Given the description of an element on the screen output the (x, y) to click on. 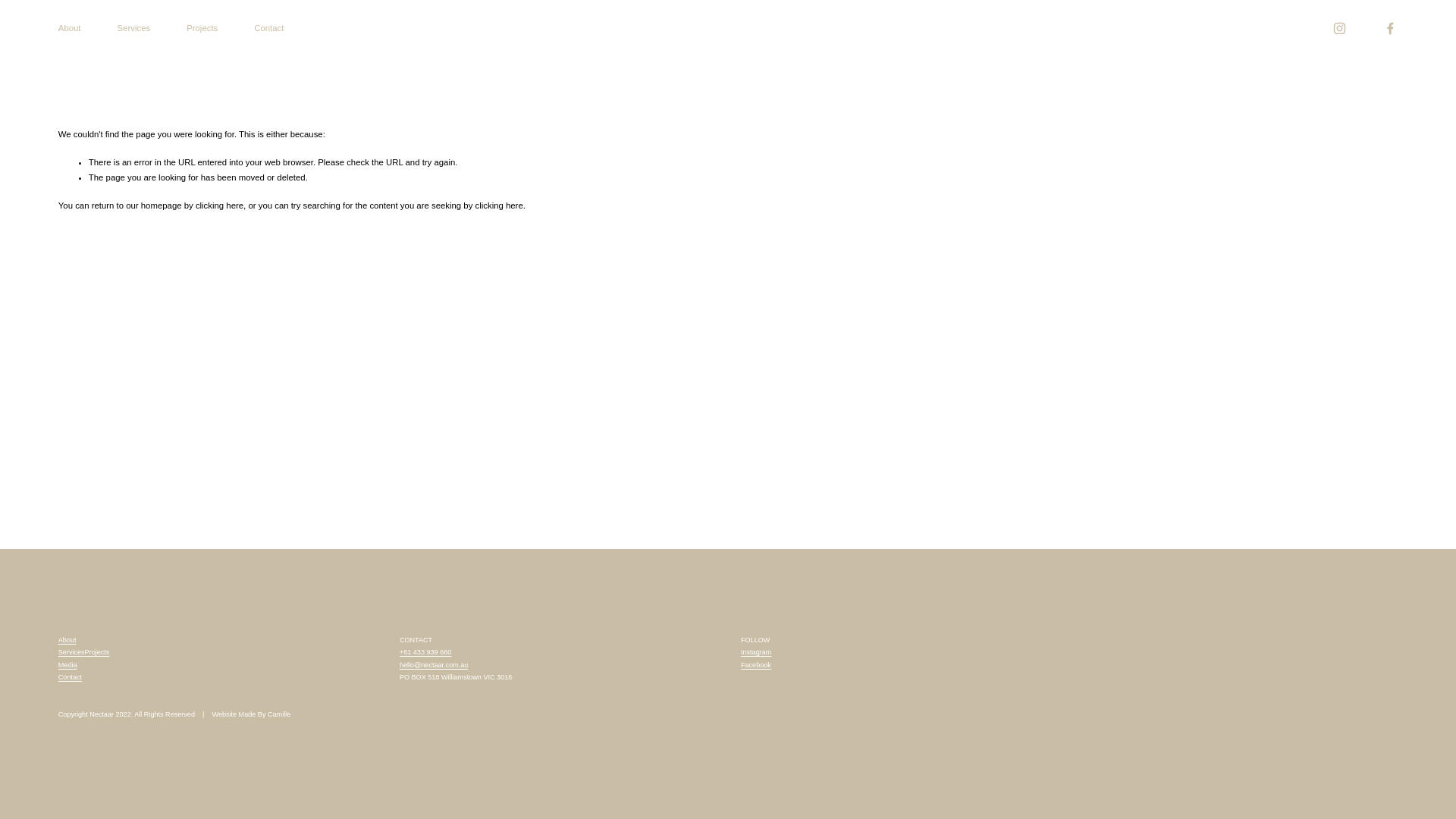
clicking here Element type: text (499, 205)
Contact Element type: text (69, 677)
Instagram Element type: text (755, 652)
Services Element type: text (71, 652)
About Element type: text (69, 28)
Contact Element type: text (268, 28)
Facebook Element type: text (755, 664)
+61 433 939 660 Element type: text (425, 652)
Services Element type: text (133, 28)
Media Element type: text (67, 664)
About Element type: text (67, 639)
clicking here Element type: text (219, 205)
Projects Element type: text (96, 652)
hello@nectaar.com.au Element type: text (433, 664)
Projects Element type: text (201, 28)
